Given the description of an element on the screen output the (x, y) to click on. 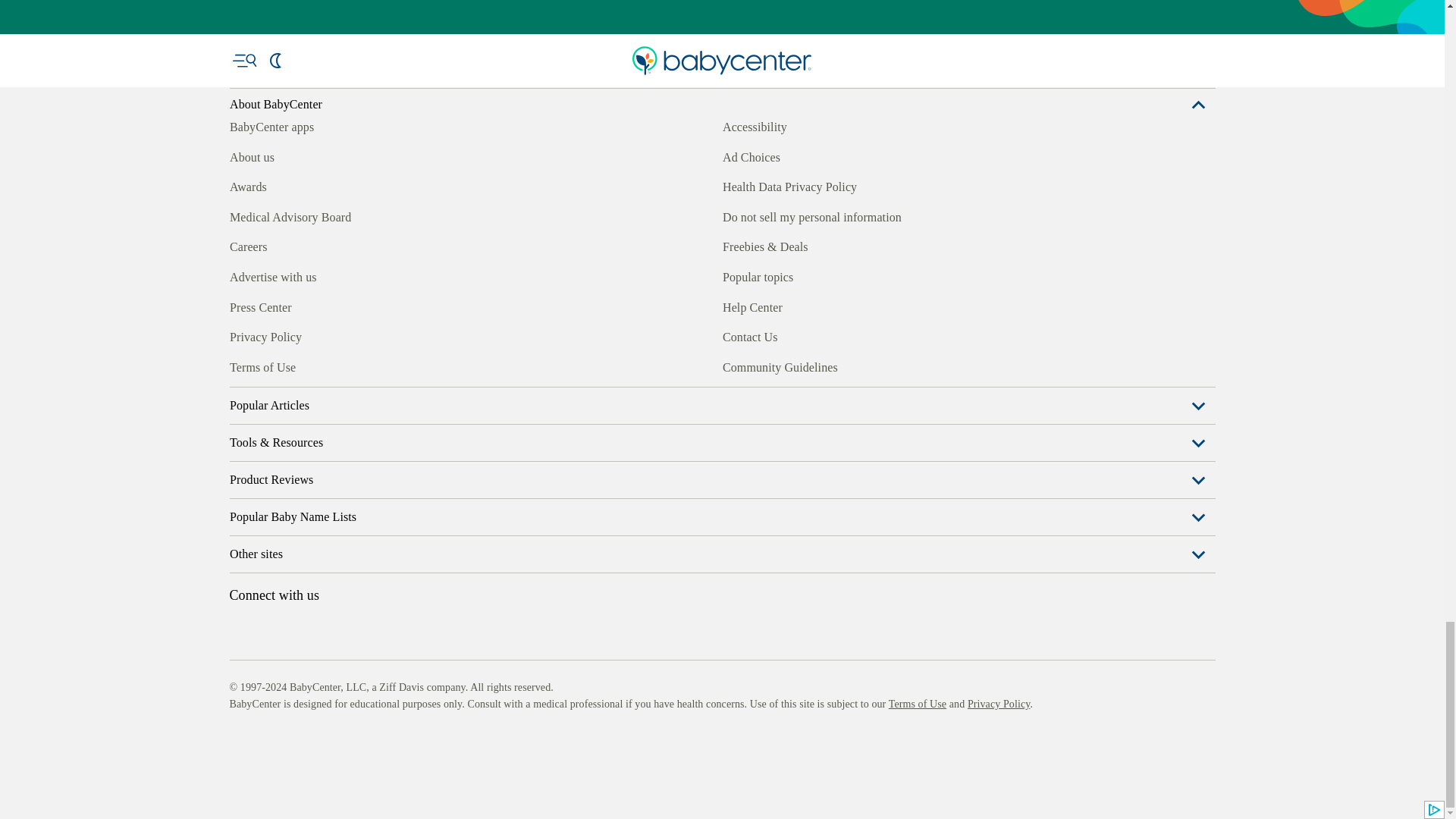
BabyCenter Pinterest board (309, 364)
BabyCenter Facebook page (239, 364)
BabyCenter YouTube channel (344, 364)
BabyCenter Instagram feed (274, 364)
BabyCenter Twitter feed (379, 364)
